Given the description of an element on the screen output the (x, y) to click on. 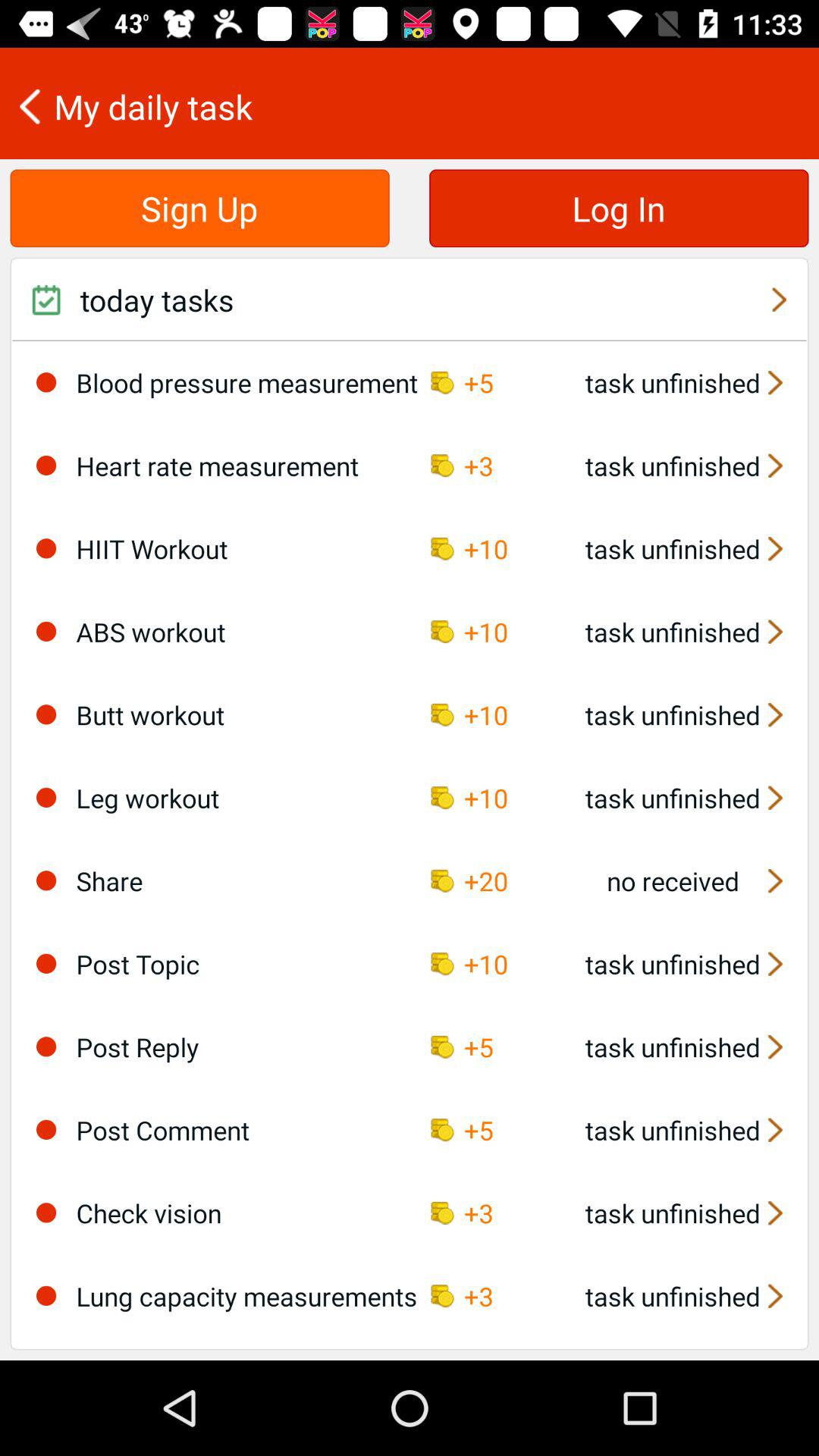
select post reply (46, 1046)
